Given the description of an element on the screen output the (x, y) to click on. 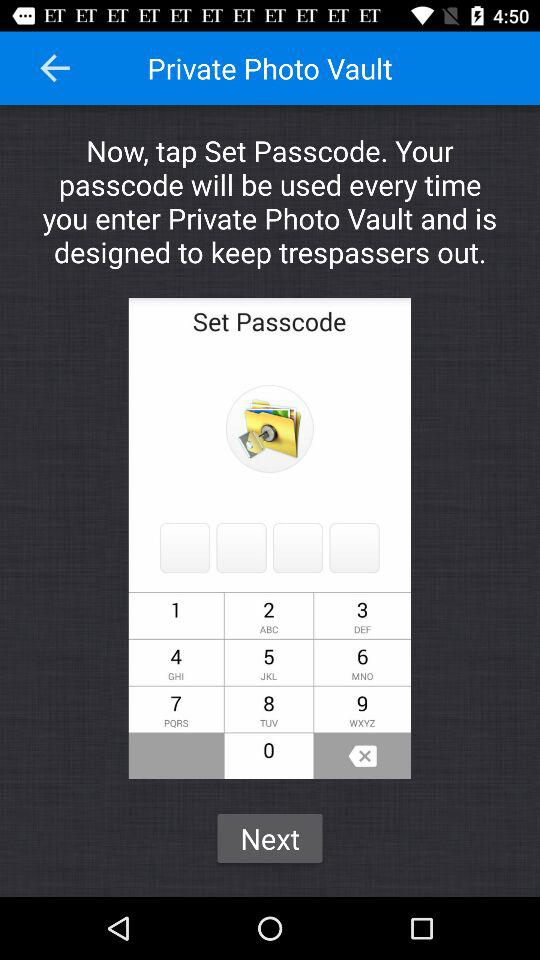
tap icon next to the private photo vault icon (55, 68)
